Given the description of an element on the screen output the (x, y) to click on. 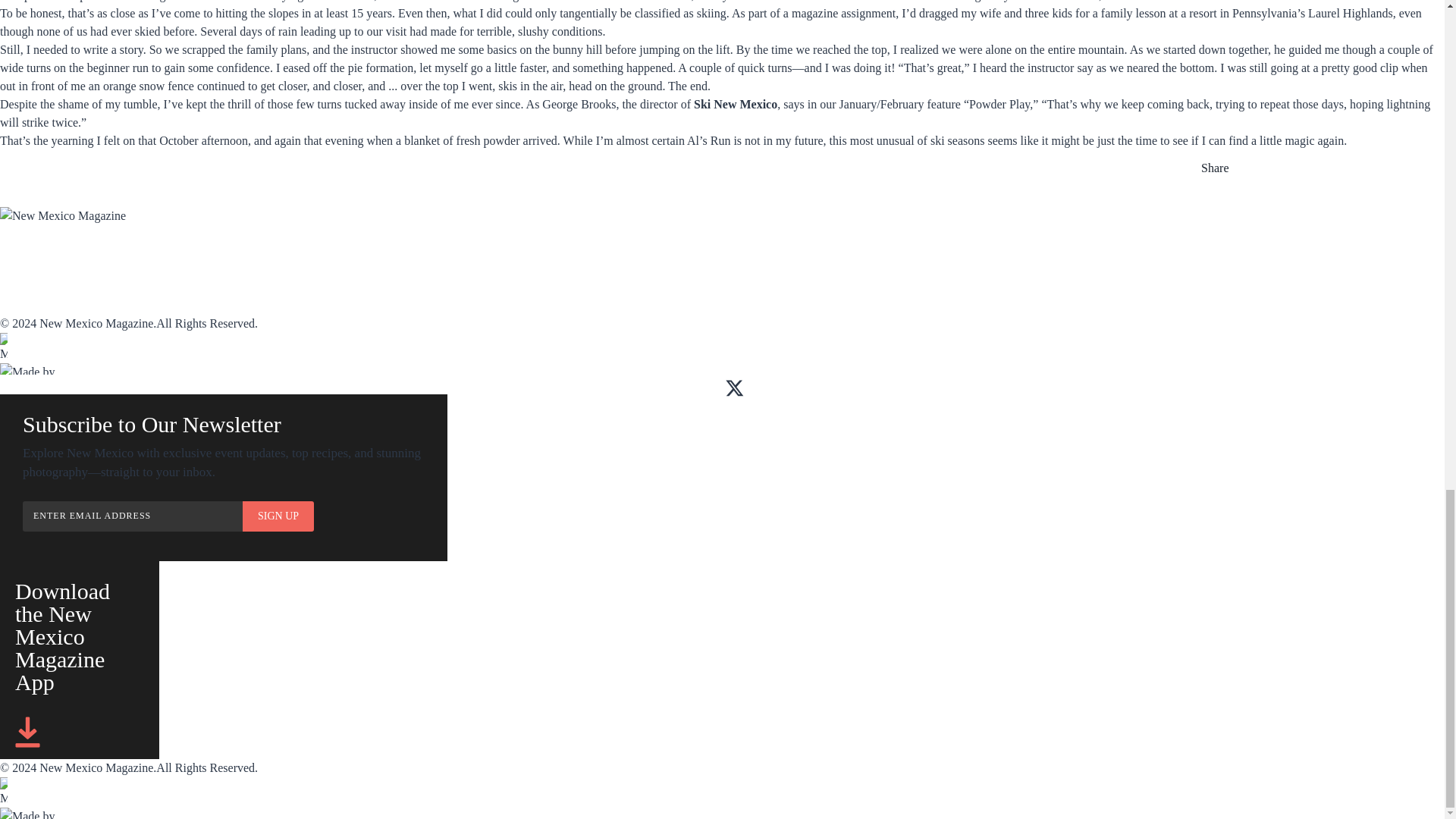
Advertise (464, 254)
Sitemap (312, 287)
App (154, 254)
Privacy Policy (333, 304)
Archive (313, 254)
Store (598, 254)
Visit our Twitter page (734, 388)
About Us (25, 287)
Contact Us (32, 304)
Subscribe (28, 254)
